Given the description of an element on the screen output the (x, y) to click on. 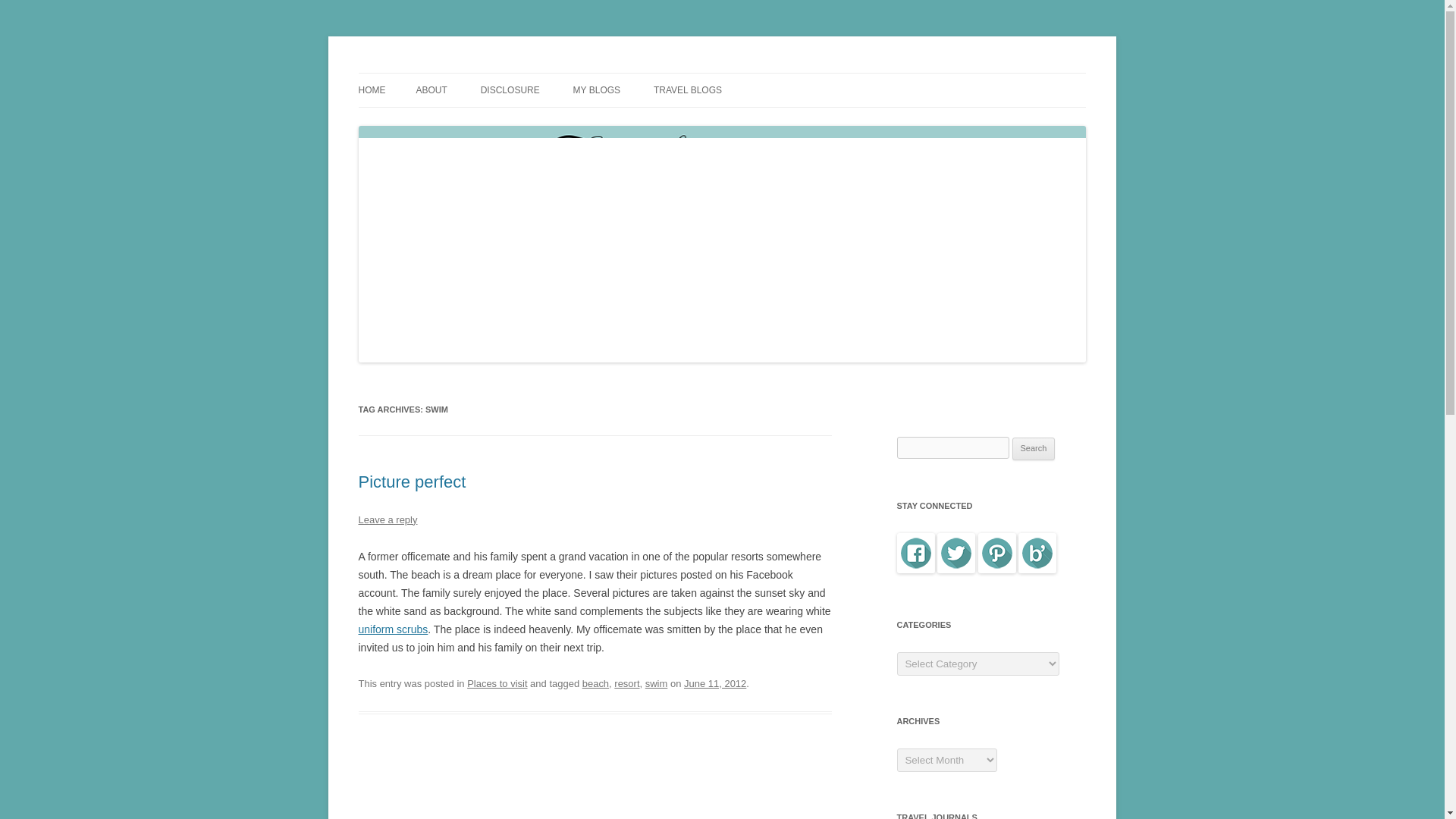
ABOUT (430, 90)
Picture perfect (411, 481)
Search (1033, 448)
resort (626, 683)
DISCLOSURE (510, 90)
swim (656, 683)
7:11 pm (714, 683)
beach (595, 683)
TRAVEL BLOGS (687, 90)
Places to visit (497, 683)
June 11, 2012 (714, 683)
Travel and Musings (449, 72)
MY BLOGS (596, 90)
uniform scrubs (393, 629)
Leave a reply (387, 519)
